Given the description of an element on the screen output the (x, y) to click on. 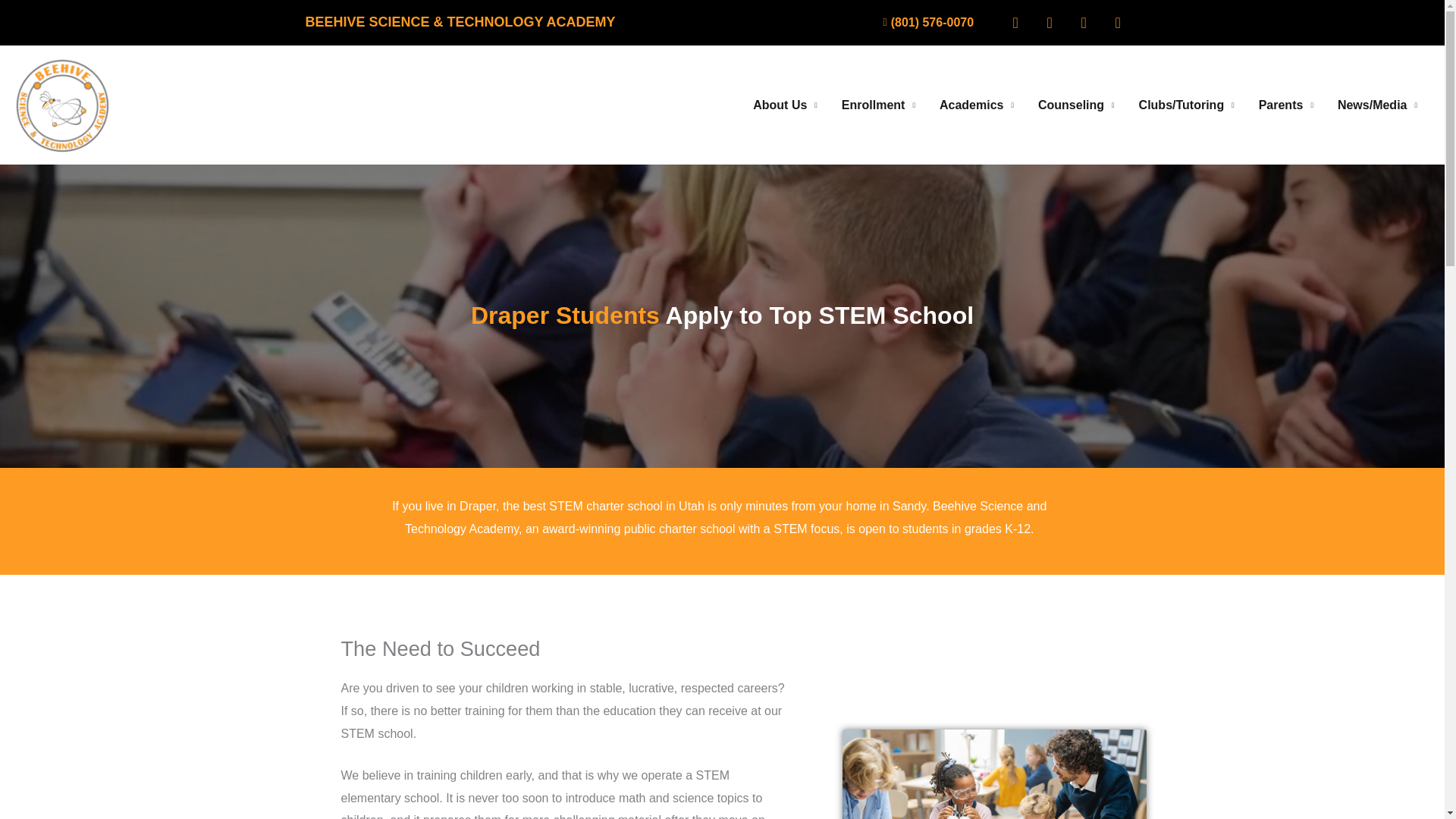
Youtube (1083, 22)
Facebook (1015, 22)
Academics (976, 104)
Enrollment (878, 104)
Twitter (1048, 22)
Instagram (1117, 22)
About Us (785, 104)
